Given the description of an element on the screen output the (x, y) to click on. 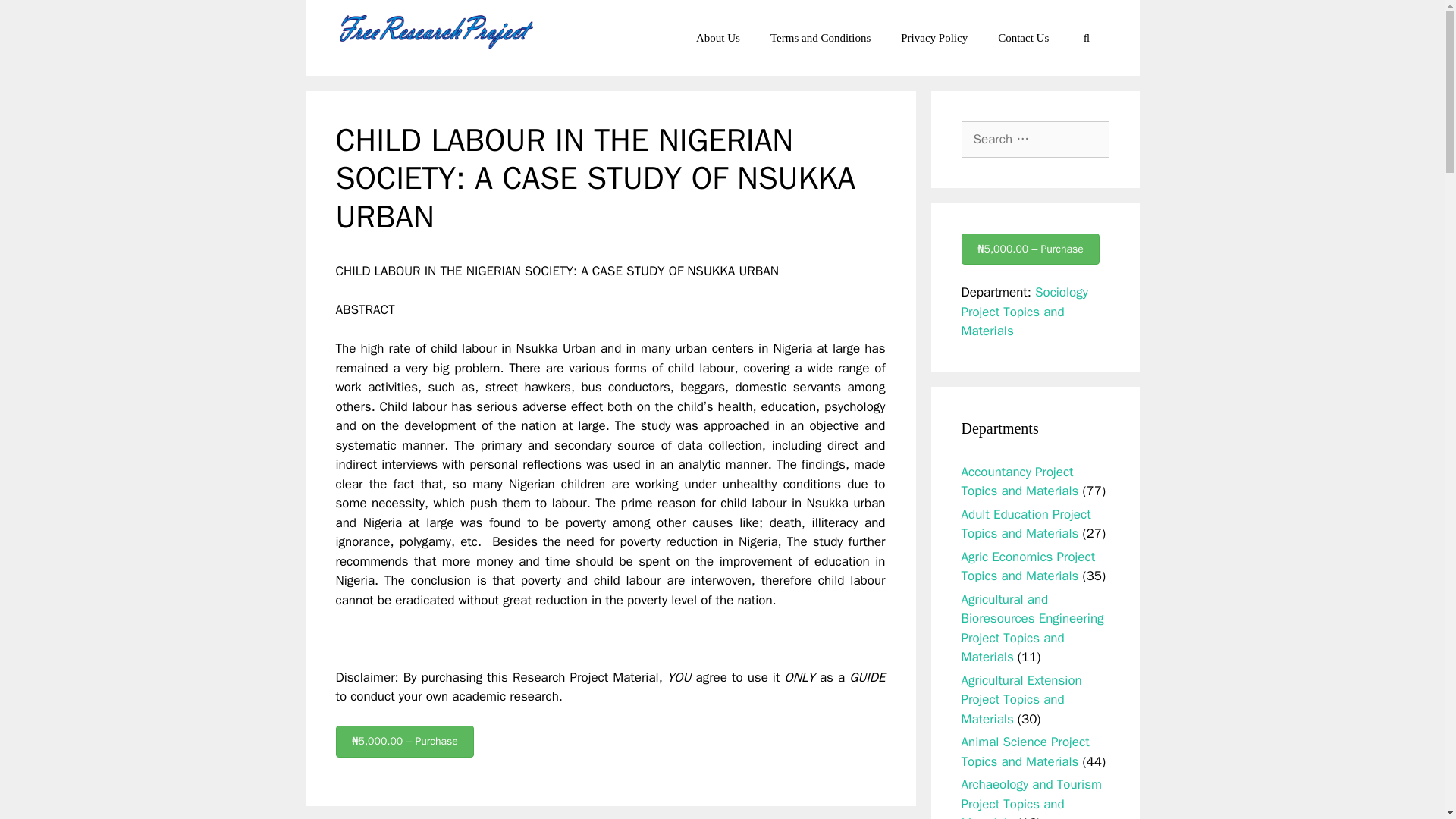
Accountancy Project Topics and Materials (1019, 481)
Agric Economics Project Topics and Materials (1028, 566)
Adult Education Project Topics and Materials (1025, 524)
Privacy Policy (933, 37)
Search for: (1034, 139)
Archaeology and Tourism Project Topics and Materials (1031, 797)
About Us (718, 37)
Contact Us (1023, 37)
Terms and Conditions (820, 37)
